Given the description of an element on the screen output the (x, y) to click on. 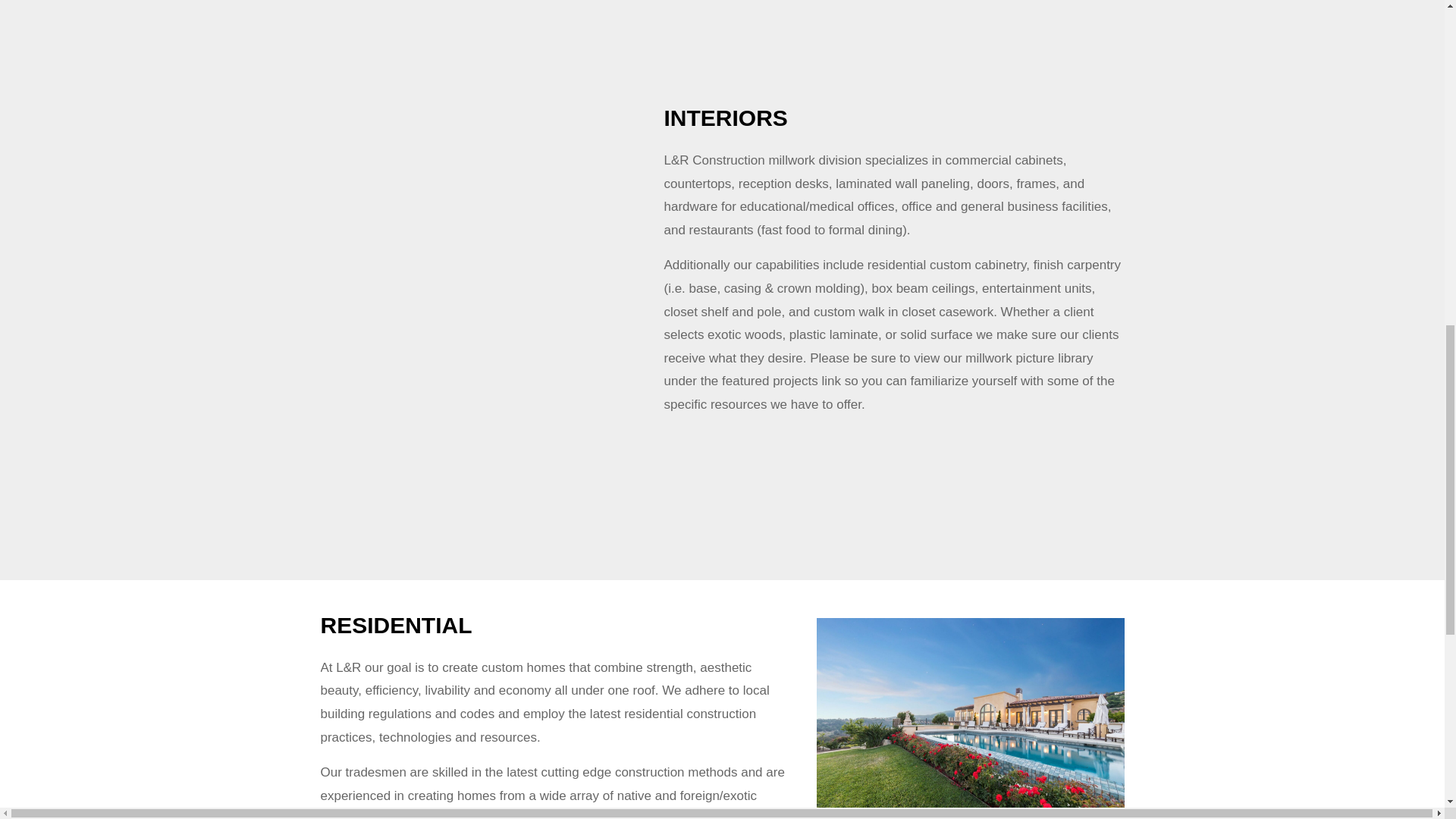
Everett Plaza2 (704, 21)
Original Roadhouse Grill (448, 21)
Selva-24 (448, 450)
